Given the description of an element on the screen output the (x, y) to click on. 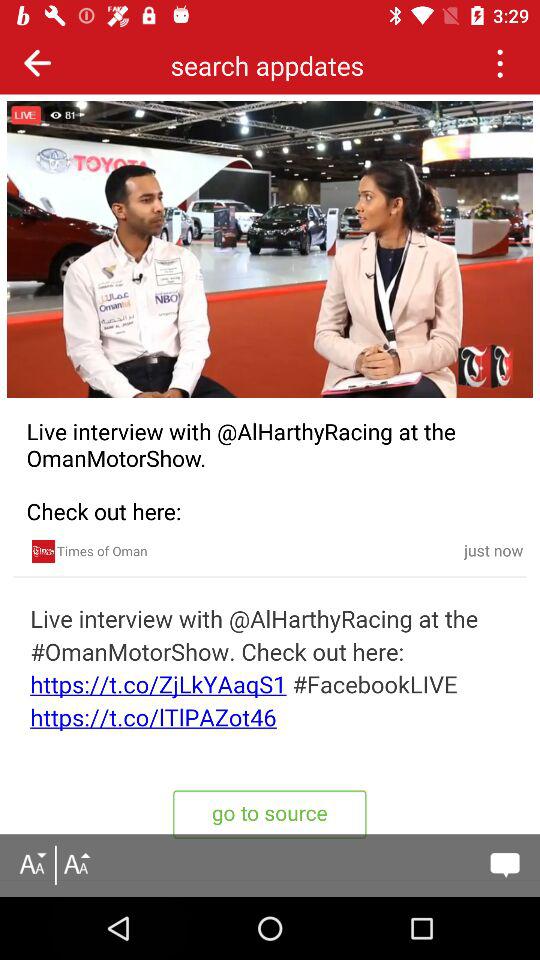
advertisement (43, 551)
